Given the description of an element on the screen output the (x, y) to click on. 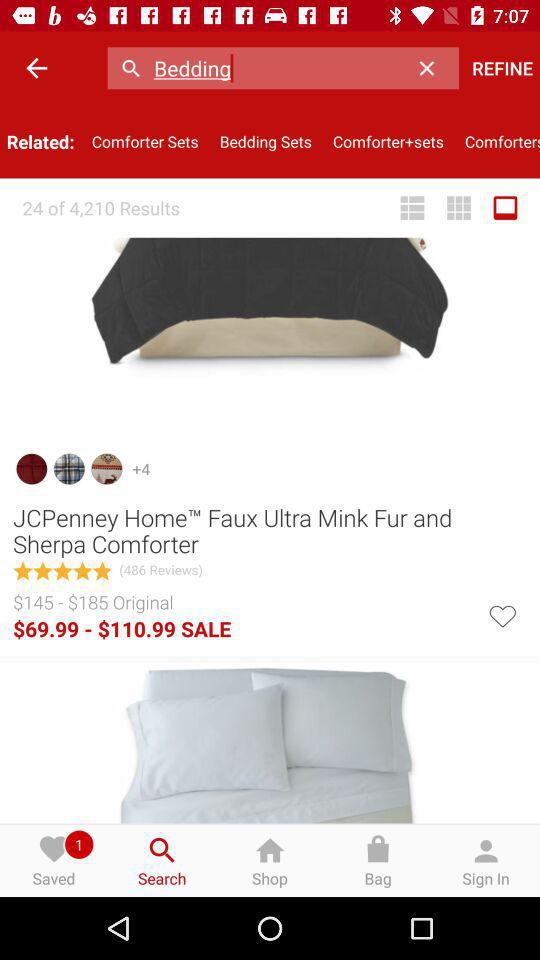
favorite this item (501, 614)
